Given the description of an element on the screen output the (x, y) to click on. 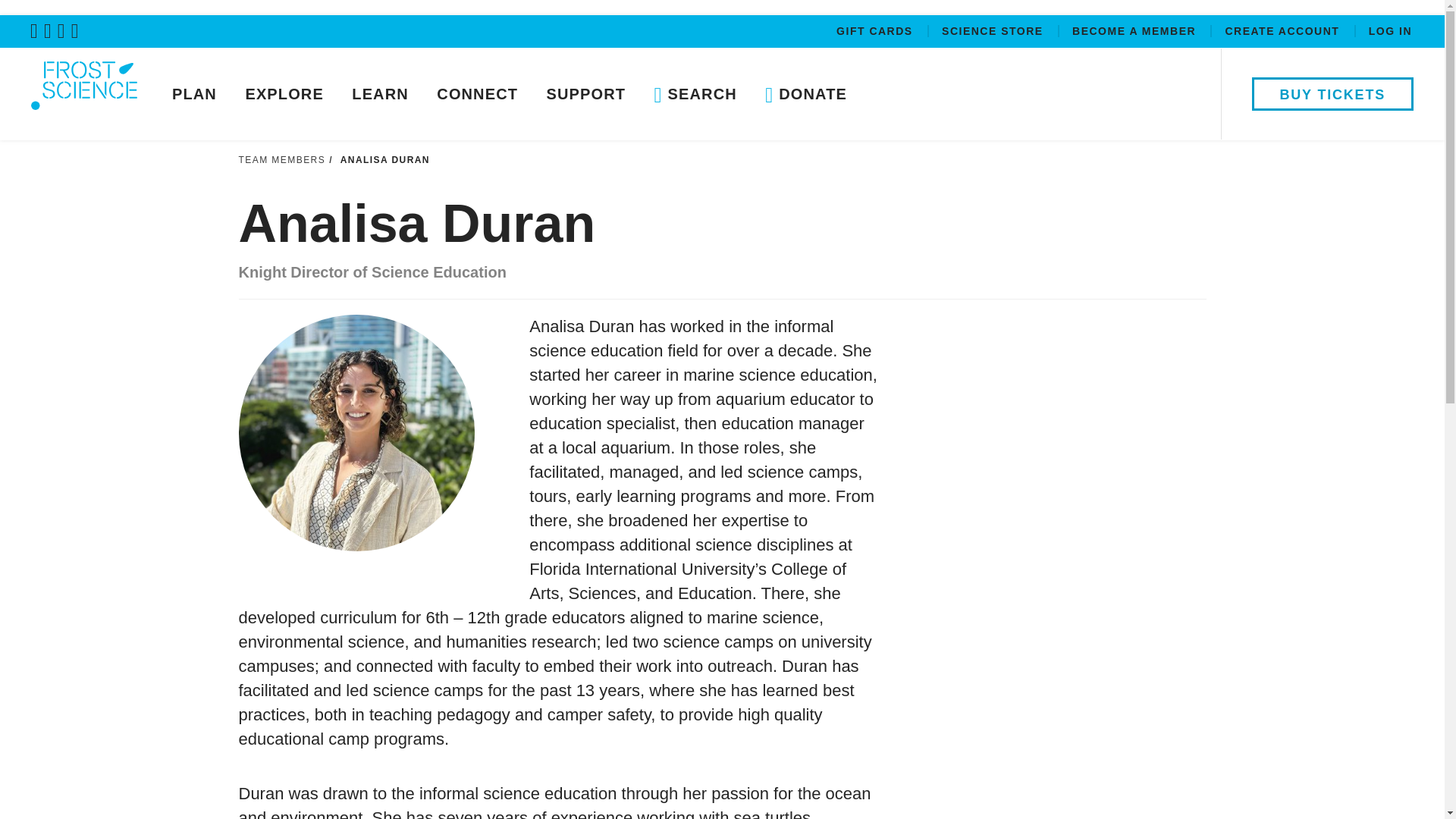
Connect on TikTok (77, 30)
Become a member (1135, 32)
Gift Cards (876, 32)
CONNECT (477, 93)
LEARN (380, 93)
Plan (194, 93)
Log in (1390, 32)
PLAN (194, 93)
Create account (1283, 32)
CREATE ACCOUNT (1283, 32)
EXPLORE (283, 93)
SCIENCE STORE (994, 32)
Connect on Facebook (50, 30)
Connect on Twitter (36, 30)
BECOME A MEMBER (1135, 32)
